Given the description of an element on the screen output the (x, y) to click on. 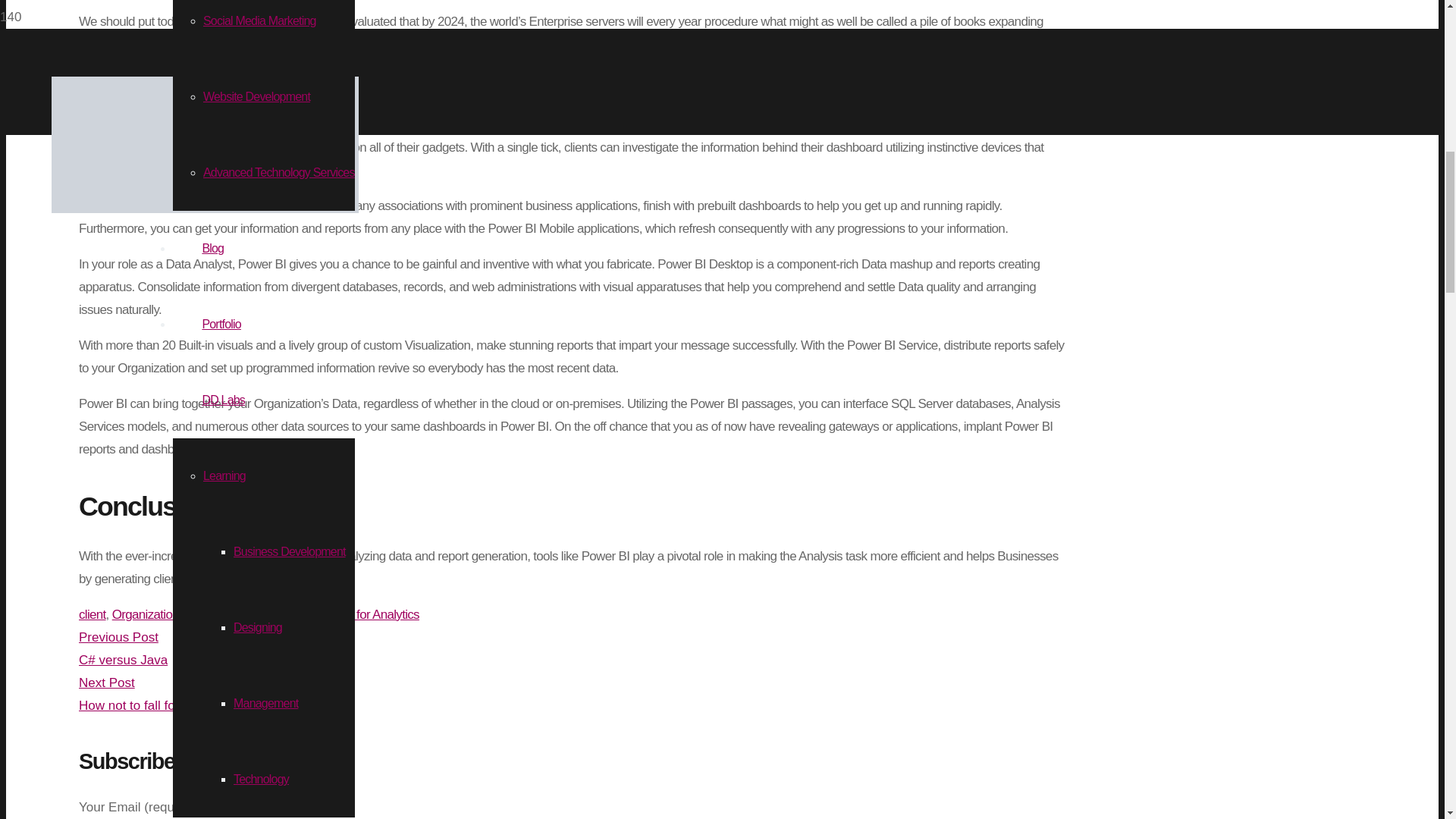
Careers (221, 35)
Contact (220, 187)
Interns (219, 111)
How not to fall for Unethical Email Marketing (571, 694)
